Given the description of an element on the screen output the (x, y) to click on. 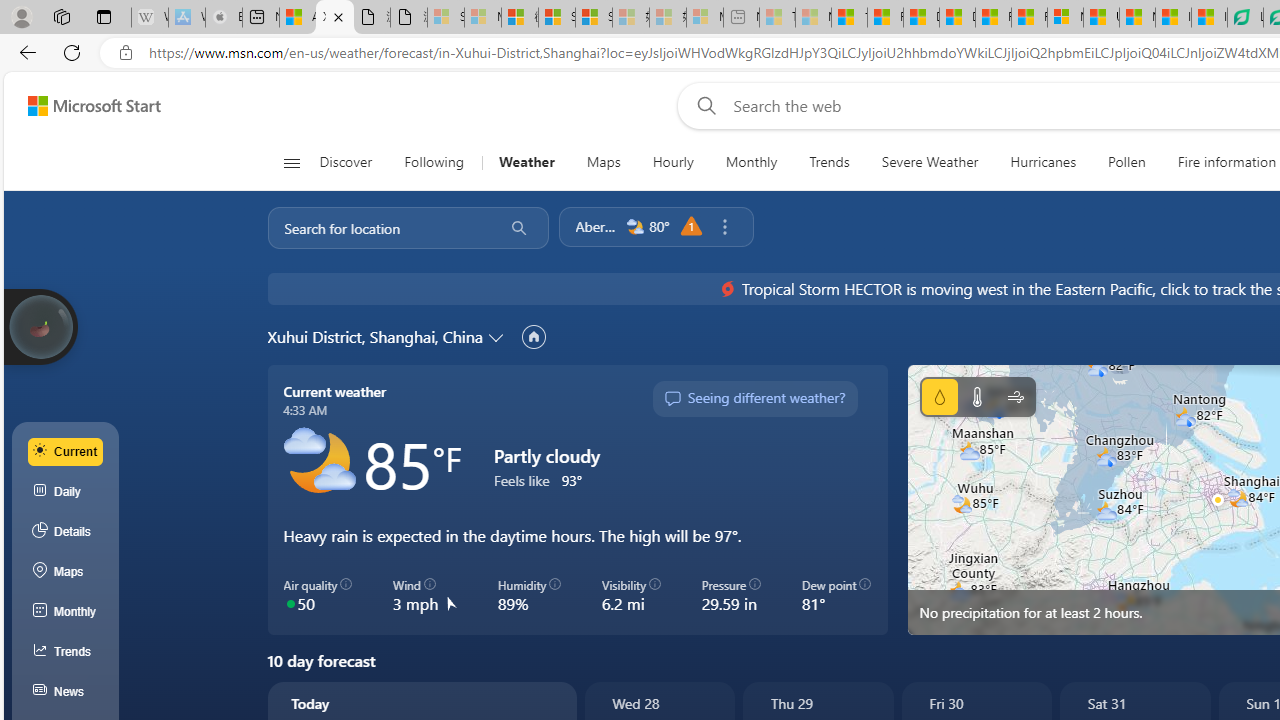
Microsoft Services Agreement - Sleeping (482, 17)
